Given the description of an element on the screen output the (x, y) to click on. 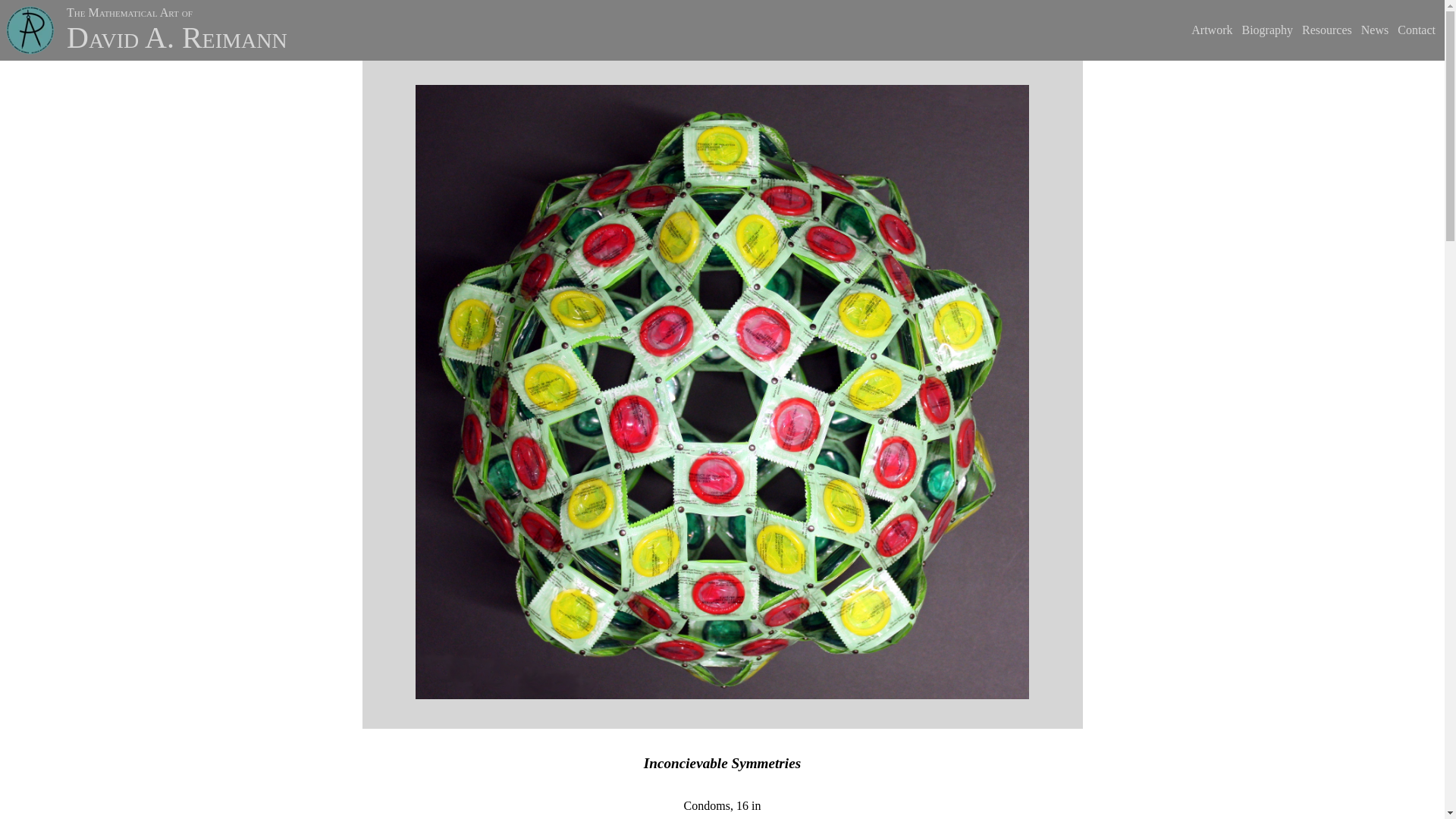
David A. Reimann (176, 37)
News (1375, 29)
Artwork (1211, 29)
Contact (1416, 29)
Biography (1266, 29)
Resources (1326, 29)
